Given the description of an element on the screen output the (x, y) to click on. 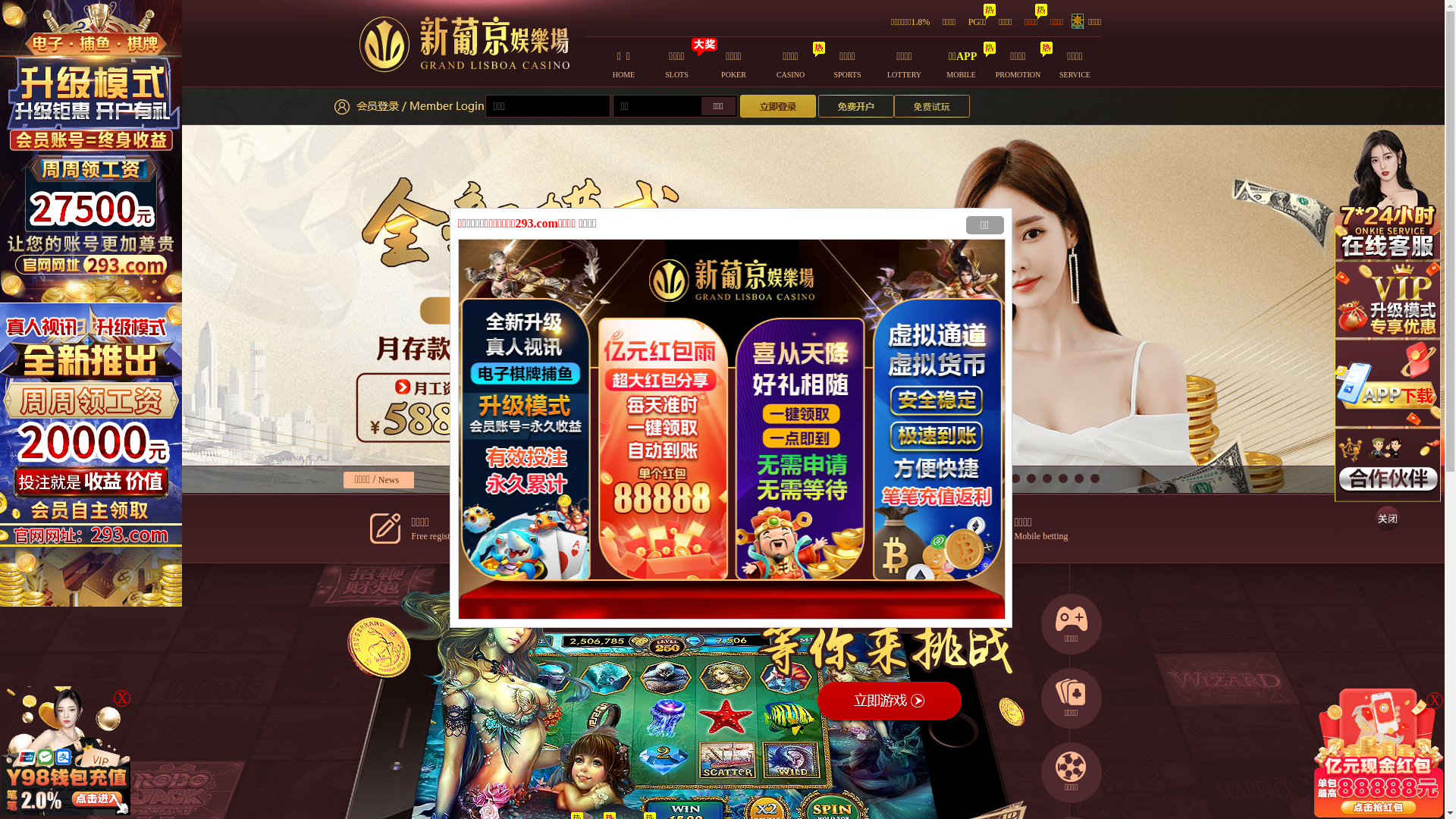
X Element type: text (121, 698)
X Element type: text (1434, 700)
